Given the description of an element on the screen output the (x, y) to click on. 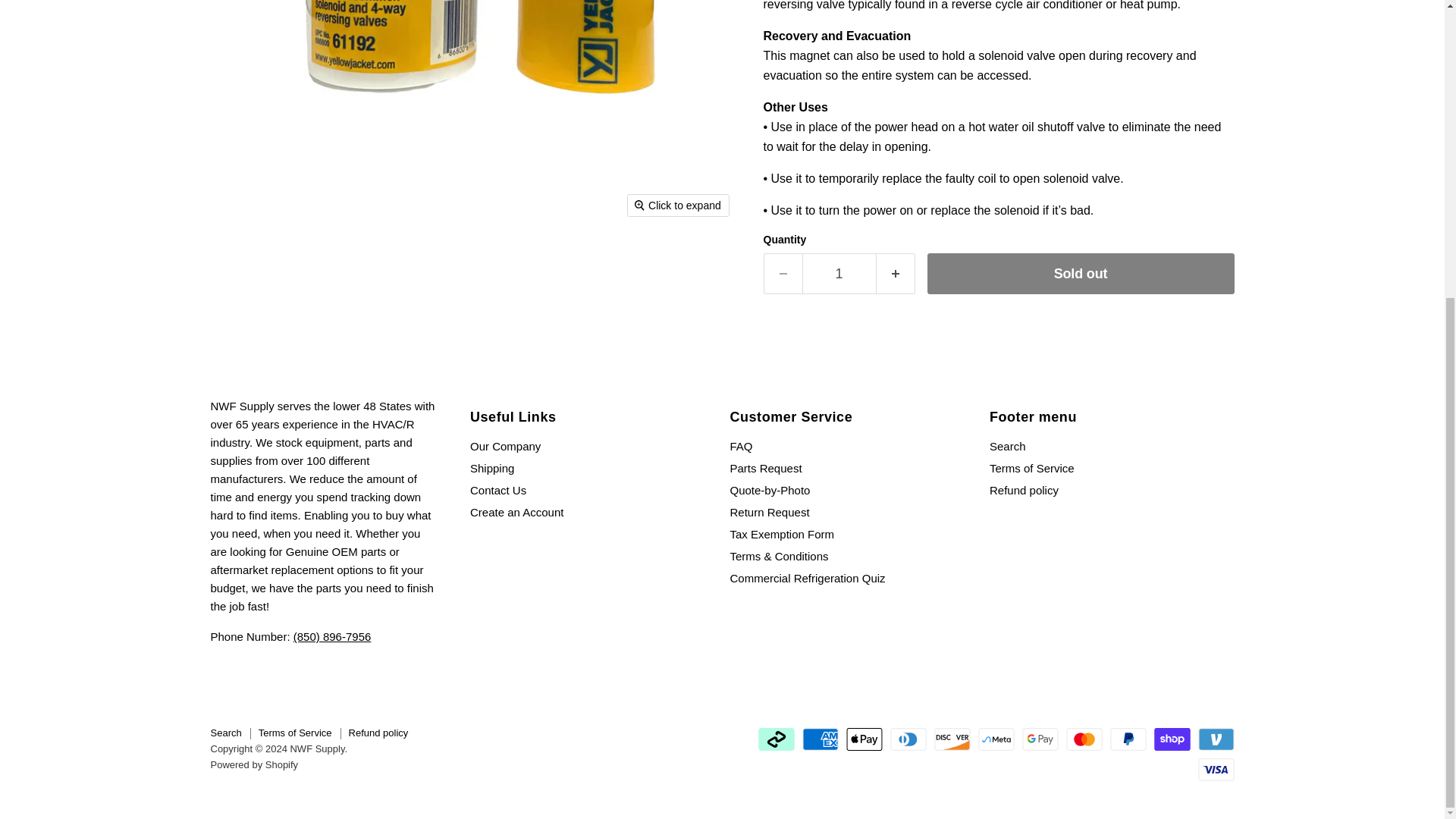
Meta Pay (996, 739)
Afterpay (776, 739)
1 (839, 273)
Discover (952, 739)
PayPal (1128, 739)
American Express (820, 739)
Apple Pay (863, 739)
Diners Club (907, 739)
Mastercard (1083, 739)
Shop Pay (1172, 739)
Venmo (1216, 739)
Google Pay (1040, 739)
